Given the description of an element on the screen output the (x, y) to click on. 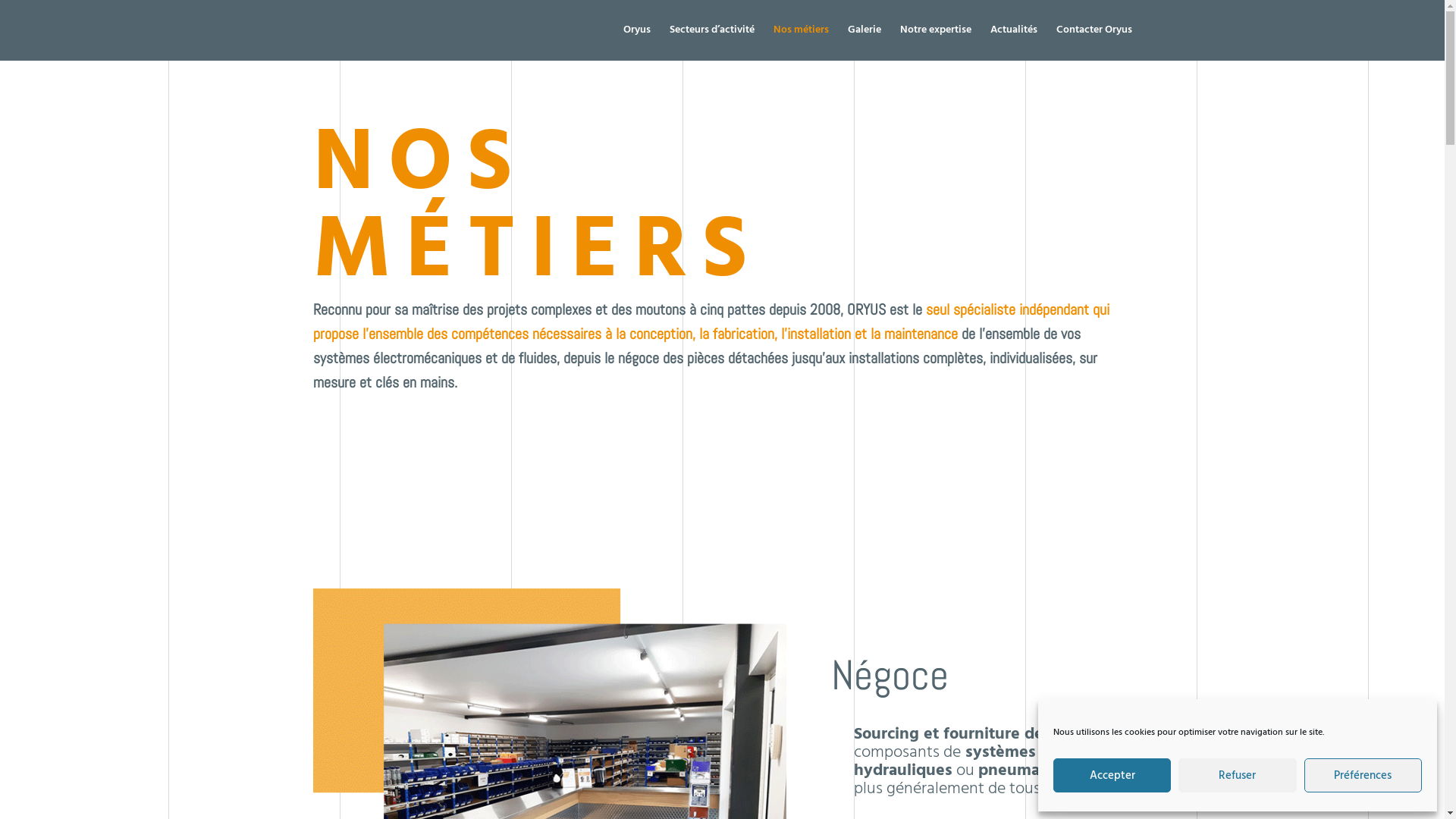
Galerie Element type: text (864, 42)
Oryus Element type: text (636, 42)
Notre expertise Element type: text (934, 42)
Refuser Element type: text (1236, 775)
Accepter Element type: text (1111, 775)
Contacter Oryus Element type: text (1093, 42)
